Given the description of an element on the screen output the (x, y) to click on. 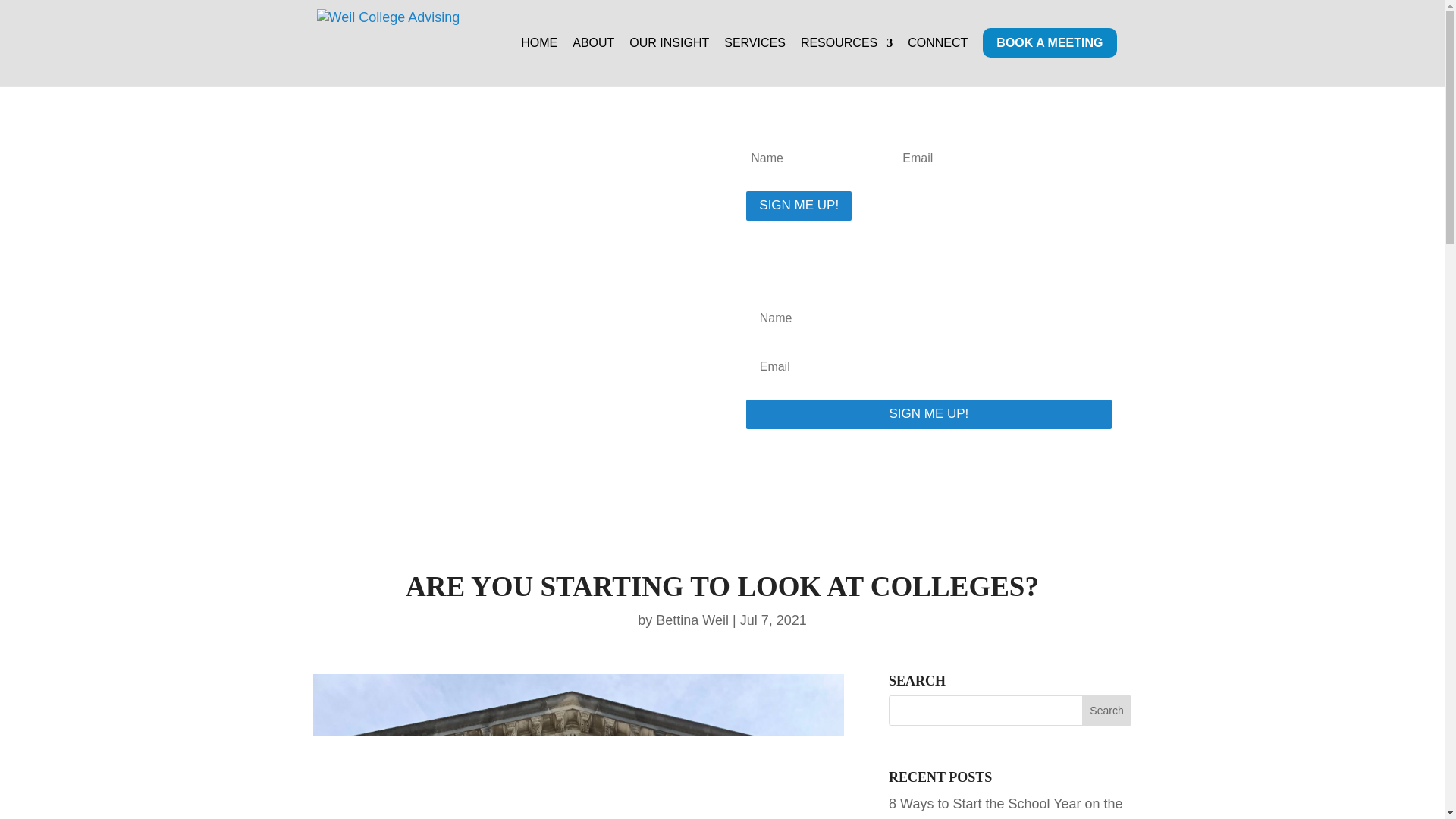
Posts by Bettina Weil (692, 620)
SIGN ME UP! (928, 414)
Bettina Weil (692, 620)
Search (1106, 710)
RESOURCES (846, 61)
SIGN ME UP! (798, 205)
8 Ways to Start the School Year on the Wrong Foot (1005, 807)
BOOK A MEETING (1049, 61)
OUR INSIGHT (668, 61)
CONNECT (937, 61)
